Given the description of an element on the screen output the (x, y) to click on. 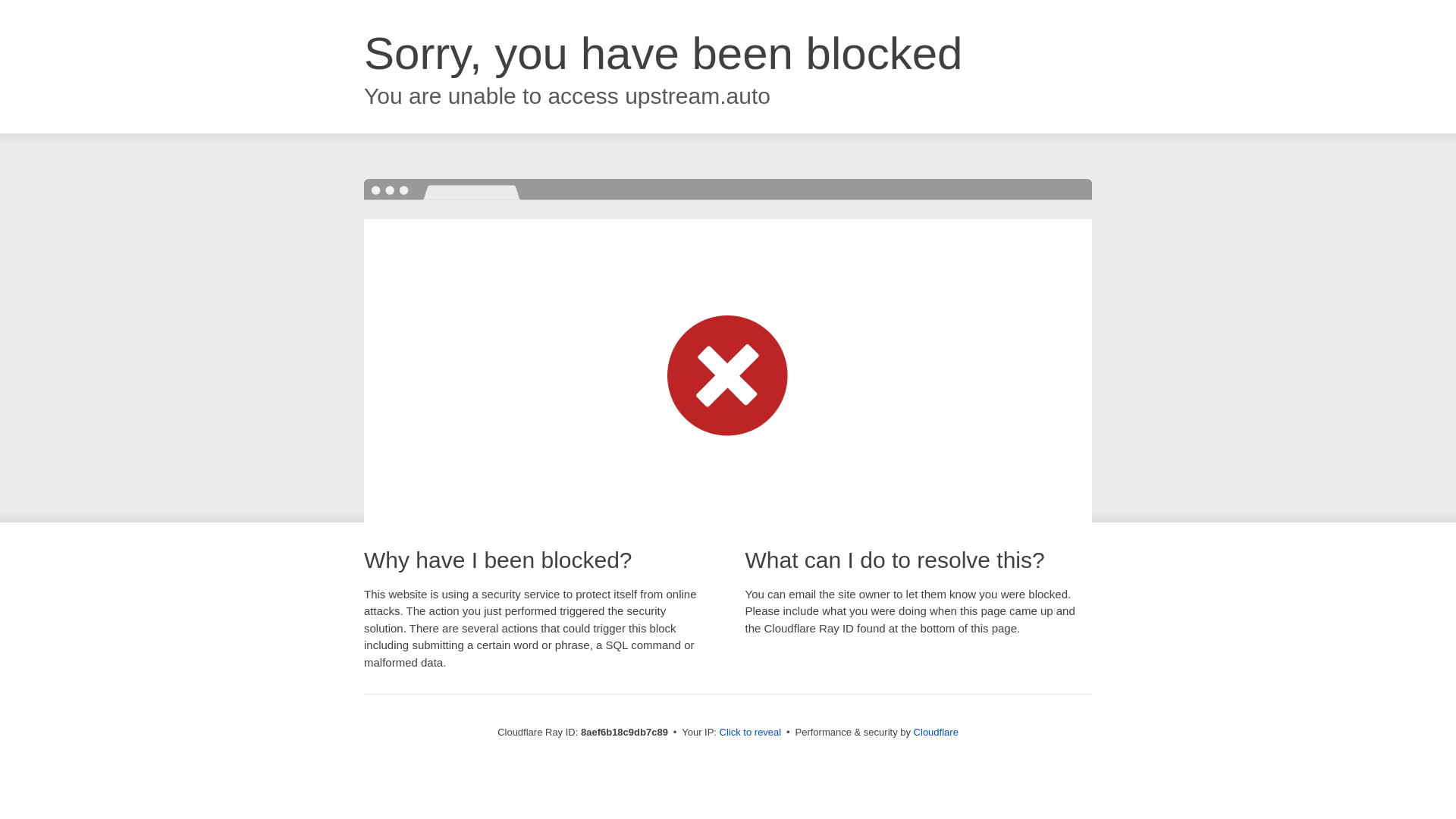
Click to reveal (750, 732)
Cloudflare (936, 731)
